Given the description of an element on the screen output the (x, y) to click on. 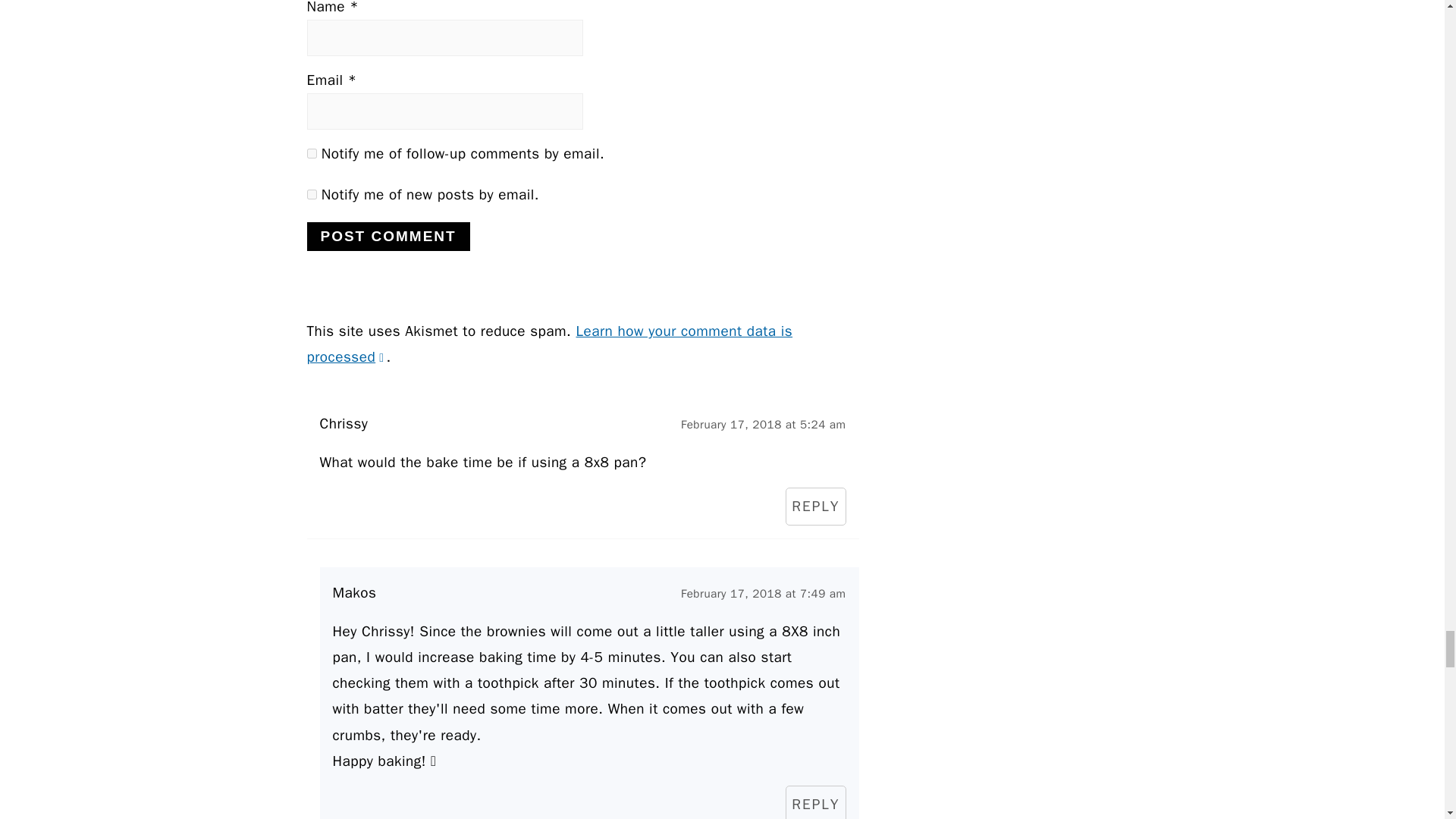
Post Comment (386, 235)
subscribe (310, 194)
subscribe (310, 153)
